Given the description of an element on the screen output the (x, y) to click on. 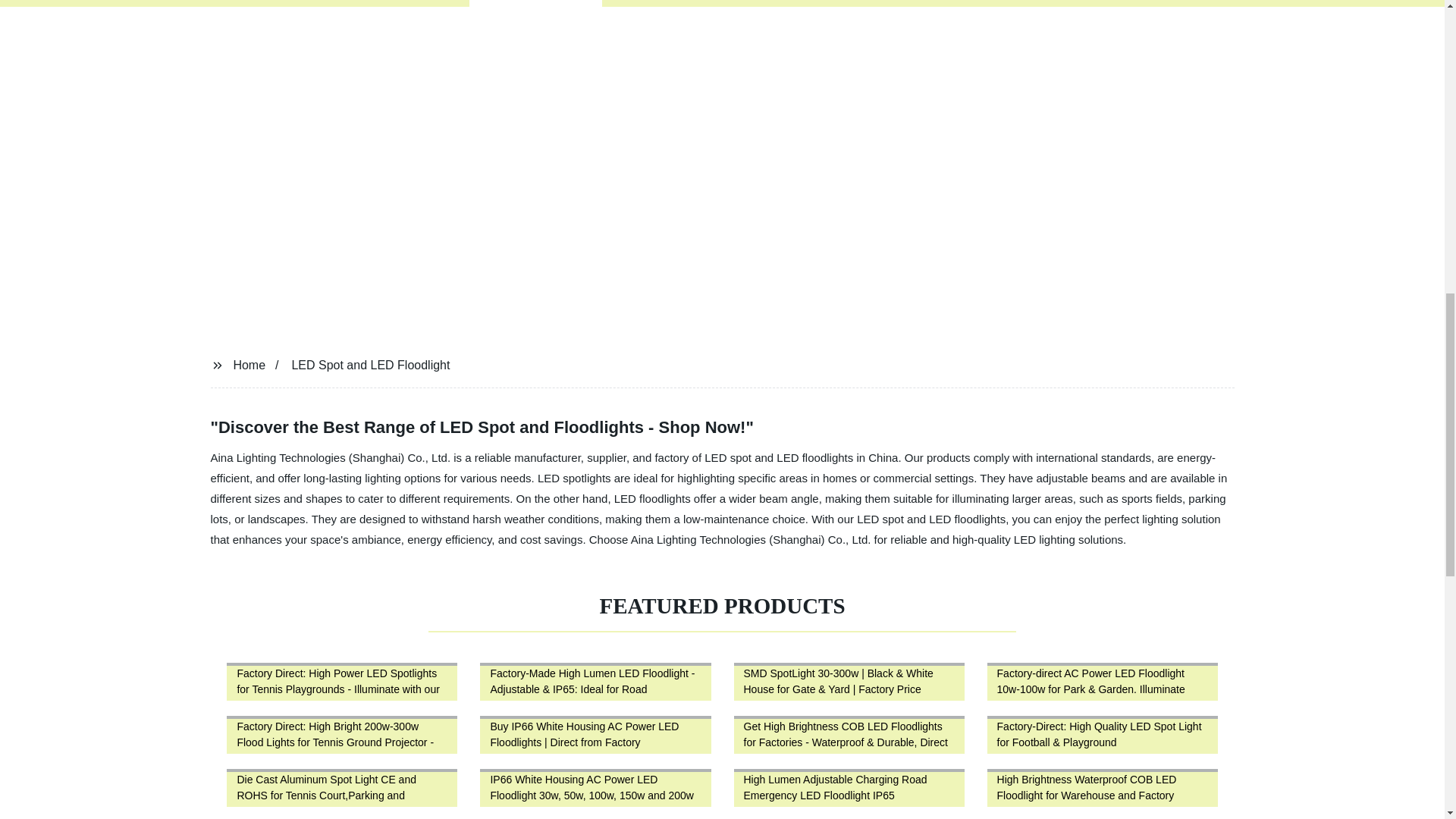
PRODUCTS (535, 2)
NEWS (652, 2)
CONTACT US (877, 2)
HOME (417, 2)
BLOG (753, 2)
ABOUT US (1013, 2)
